Given the description of an element on the screen output the (x, y) to click on. 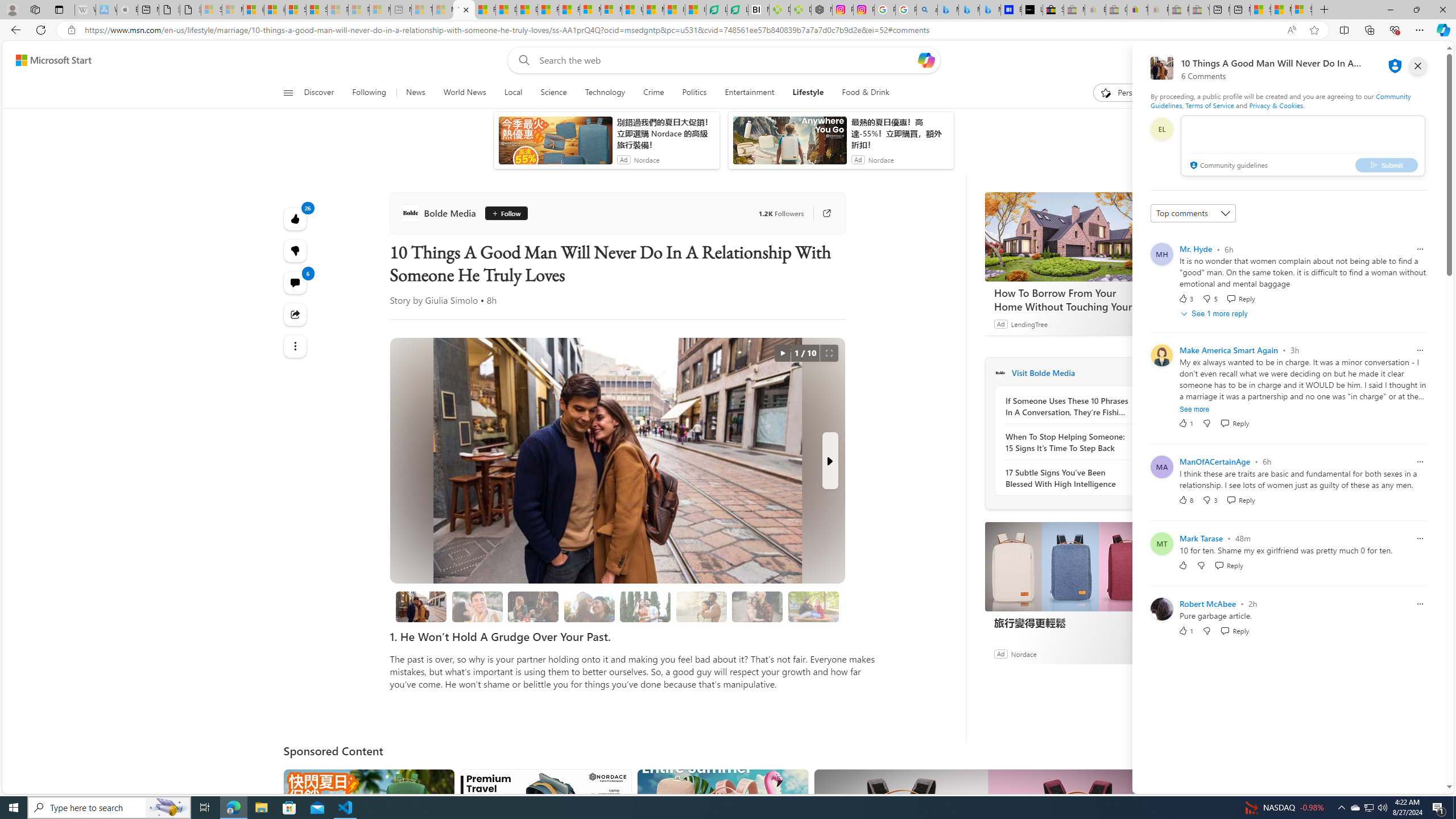
Following (370, 92)
Yard, Garden & Outdoor Living - Sleeping (1198, 9)
Profile Picture (1161, 608)
Shanghai, China hourly forecast | Microsoft Weather (1259, 9)
boyfriend holding girlfriend close sunshine (701, 606)
1 Like (1185, 630)
Visit Bolde Media website (1140, 372)
